Given the description of an element on the screen output the (x, y) to click on. 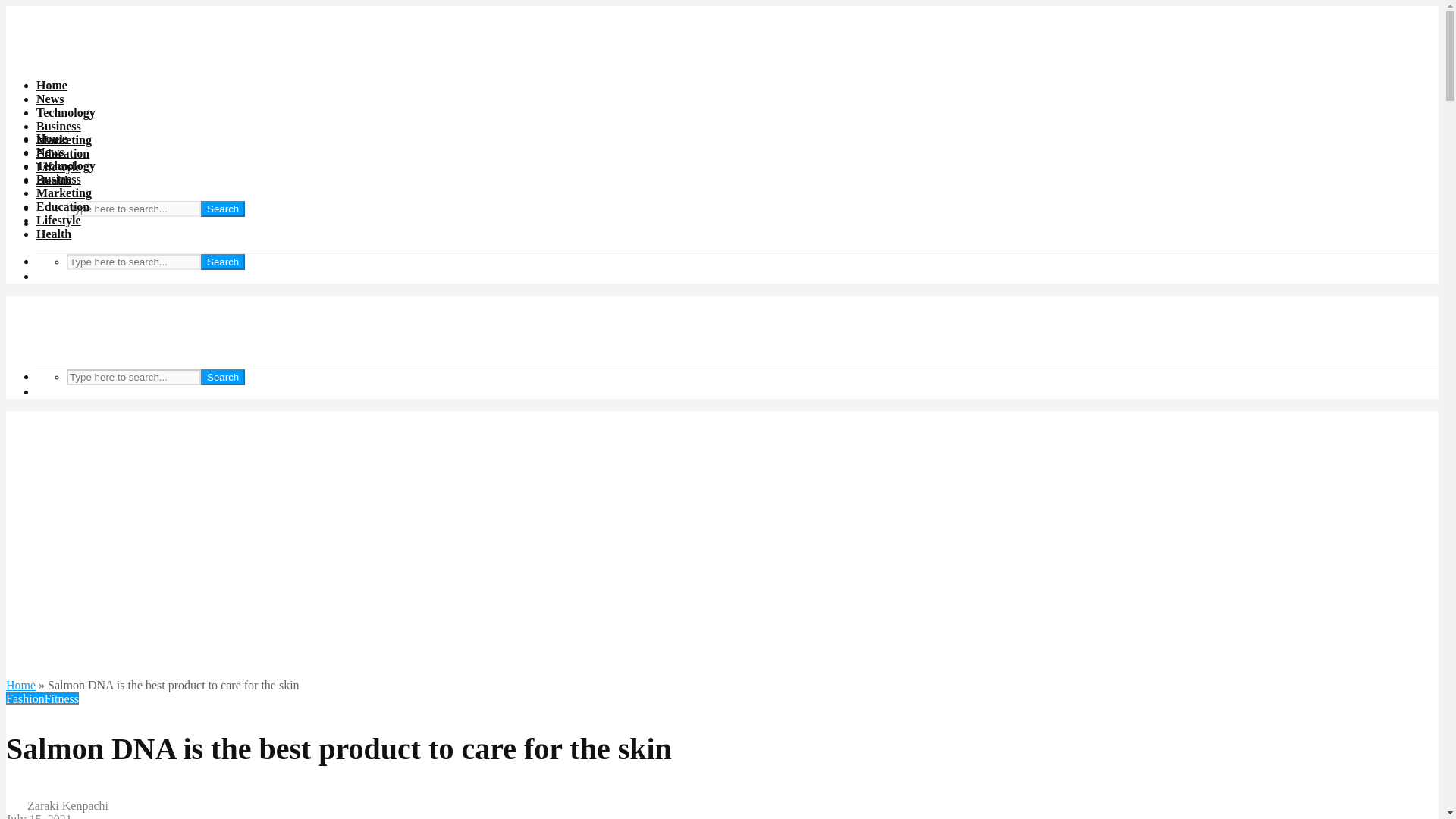
Marketing (63, 139)
Business (58, 178)
Marketing (63, 192)
Health (53, 180)
Zaraki Kenpachi (56, 805)
Fashion (25, 698)
Home (51, 137)
Search (222, 261)
Lifestyle (58, 219)
Home (19, 684)
Technology (66, 164)
Home (51, 84)
Search (222, 376)
Business (58, 125)
Health (53, 233)
